Given the description of an element on the screen output the (x, y) to click on. 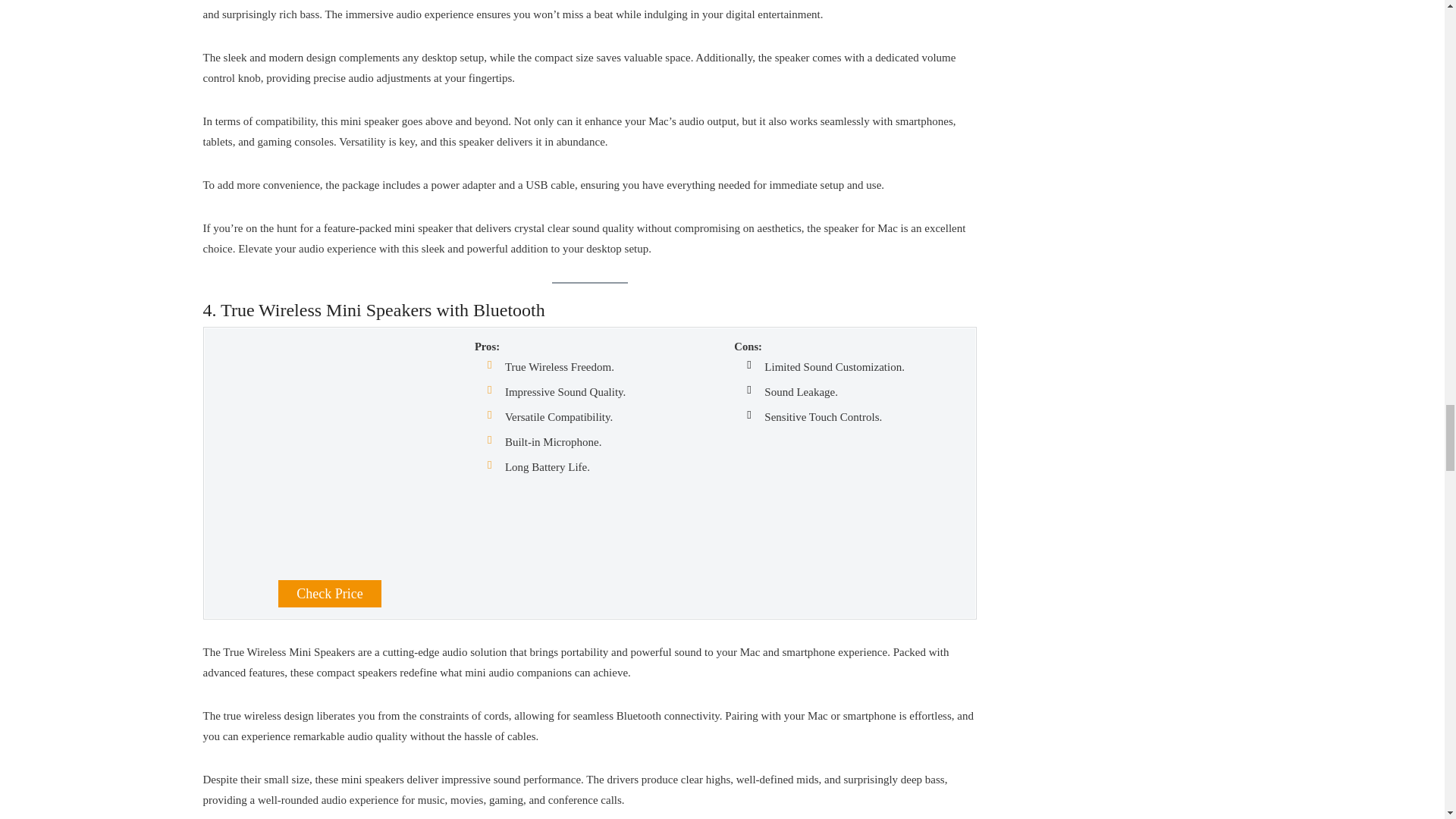
Check Amazon Price (329, 593)
